Given the description of an element on the screen output the (x, y) to click on. 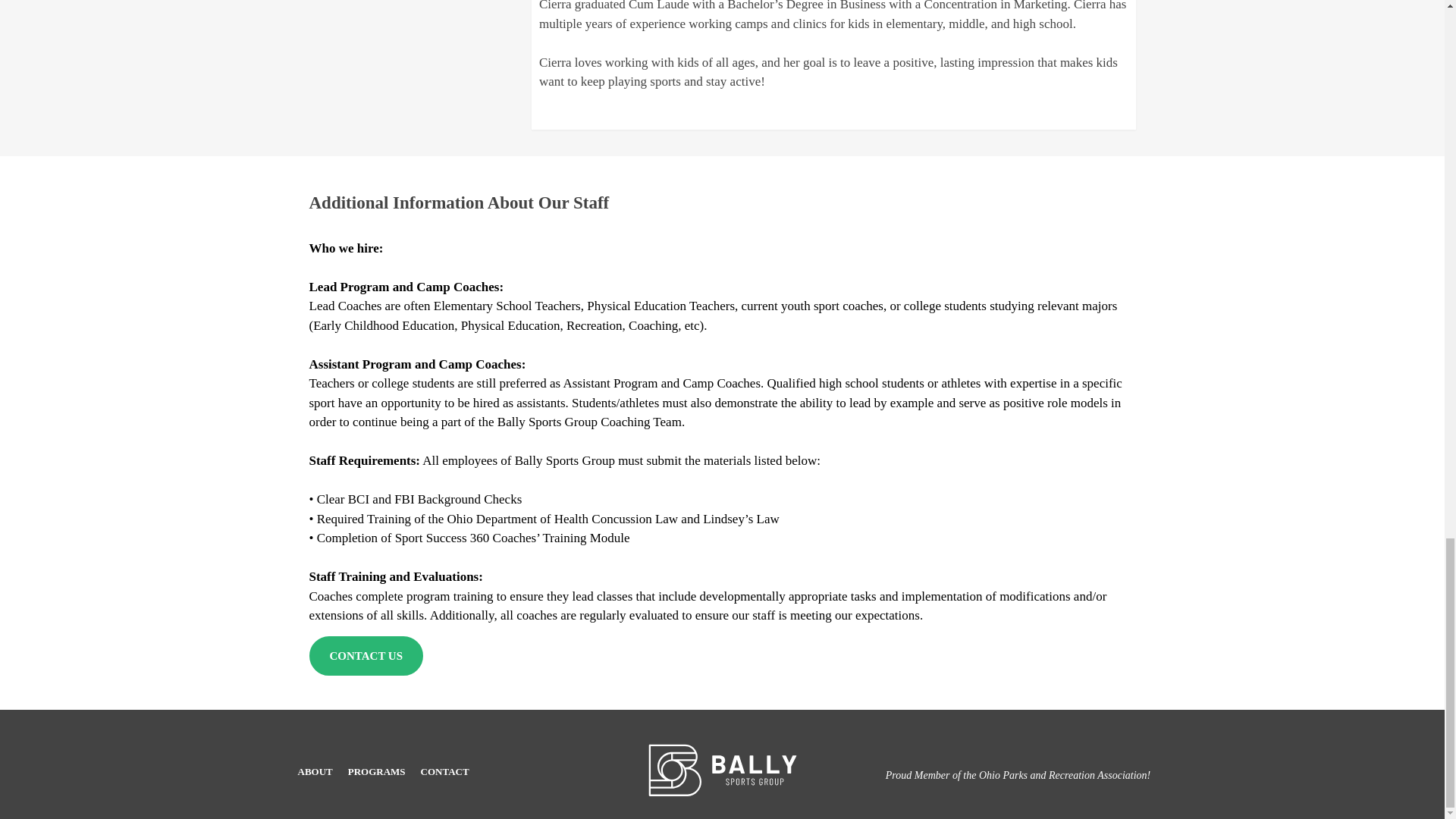
CONTACT US (365, 655)
ABOUT (315, 771)
PROGRAMS (376, 771)
CONTACT (444, 771)
